Given the description of an element on the screen output the (x, y) to click on. 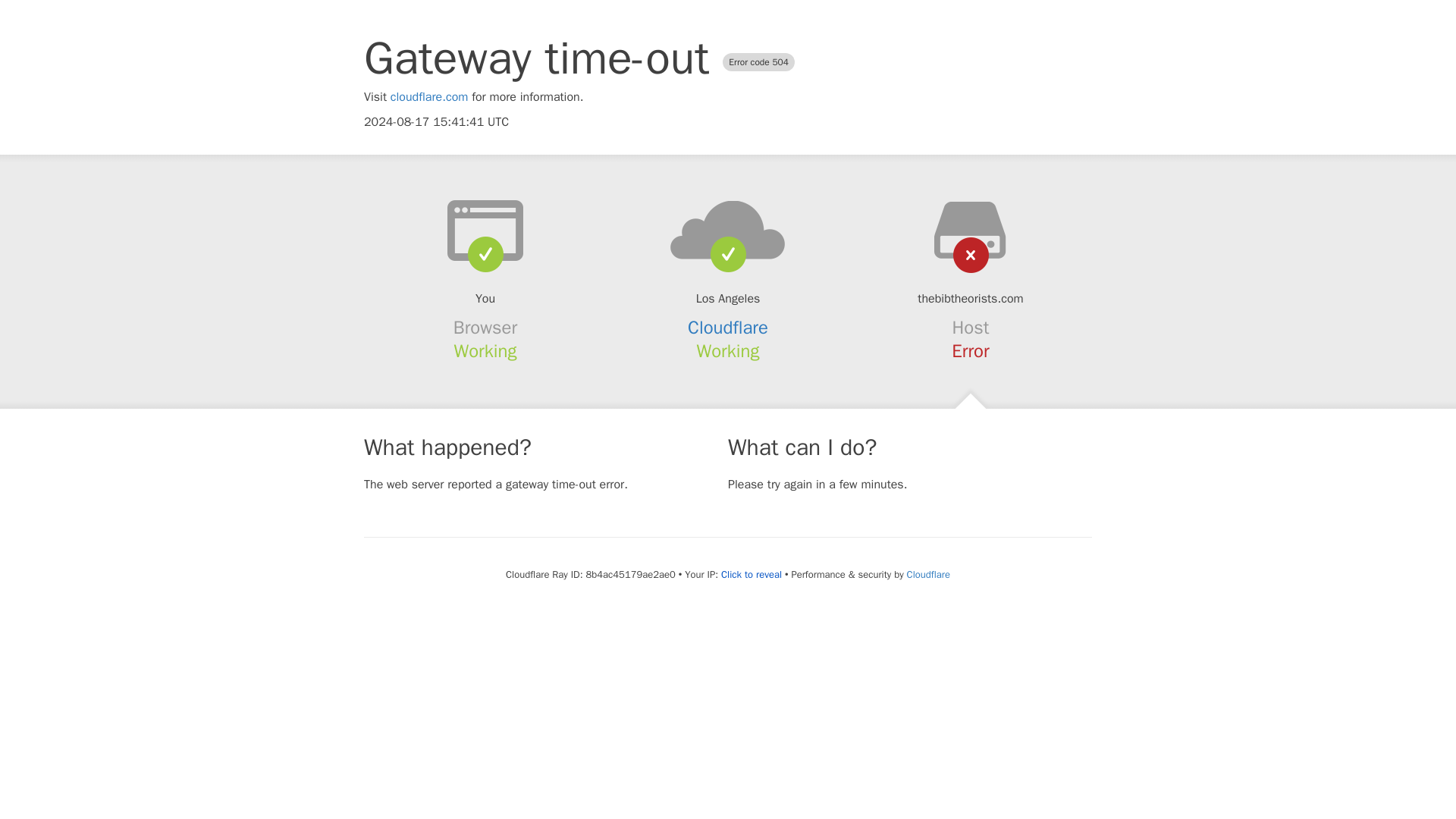
Click to reveal (750, 574)
Cloudflare (928, 574)
cloudflare.com (429, 96)
Cloudflare (727, 327)
